Given the description of an element on the screen output the (x, y) to click on. 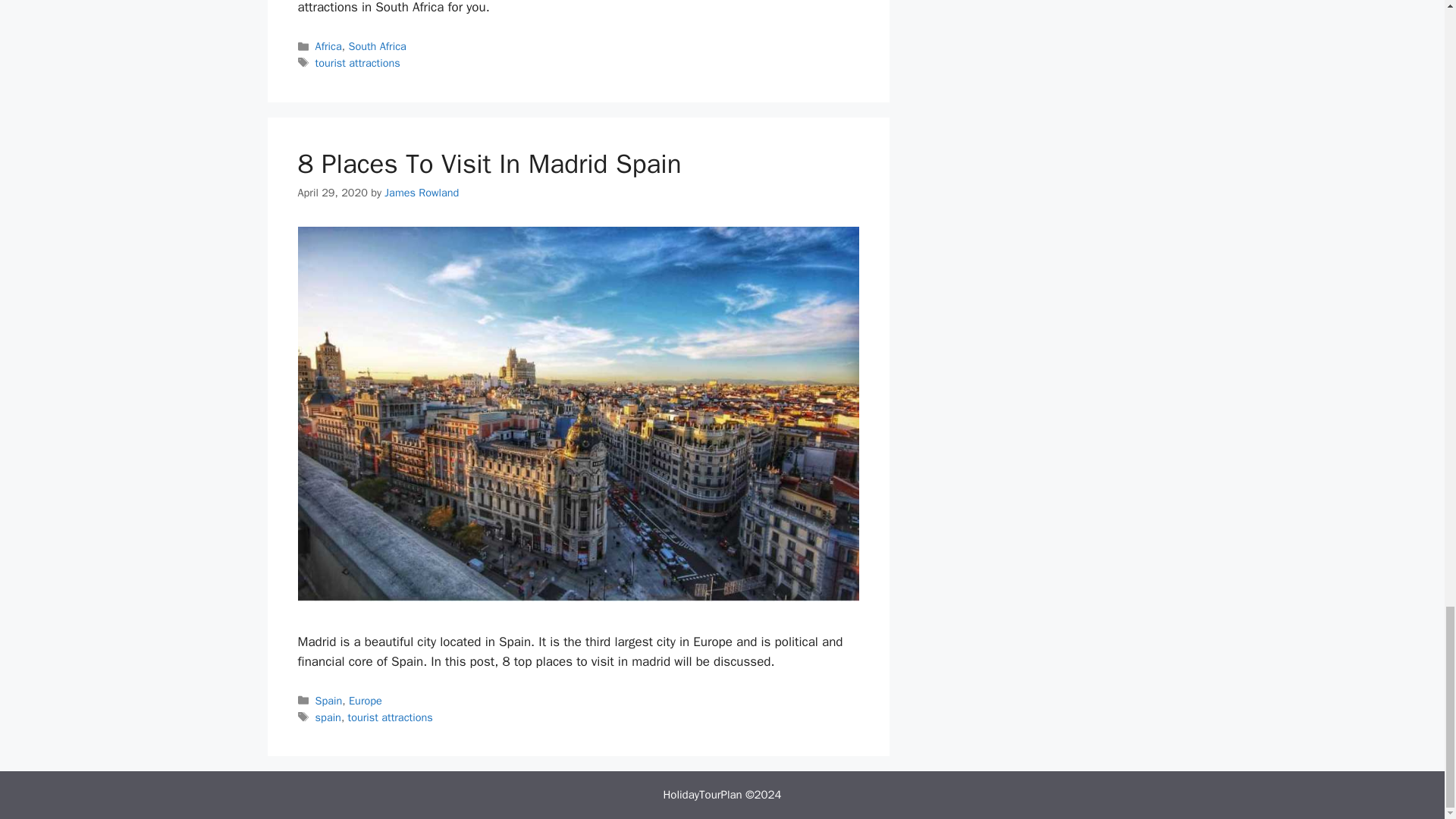
View all posts by James Rowland (421, 192)
